Given the description of an element on the screen output the (x, y) to click on. 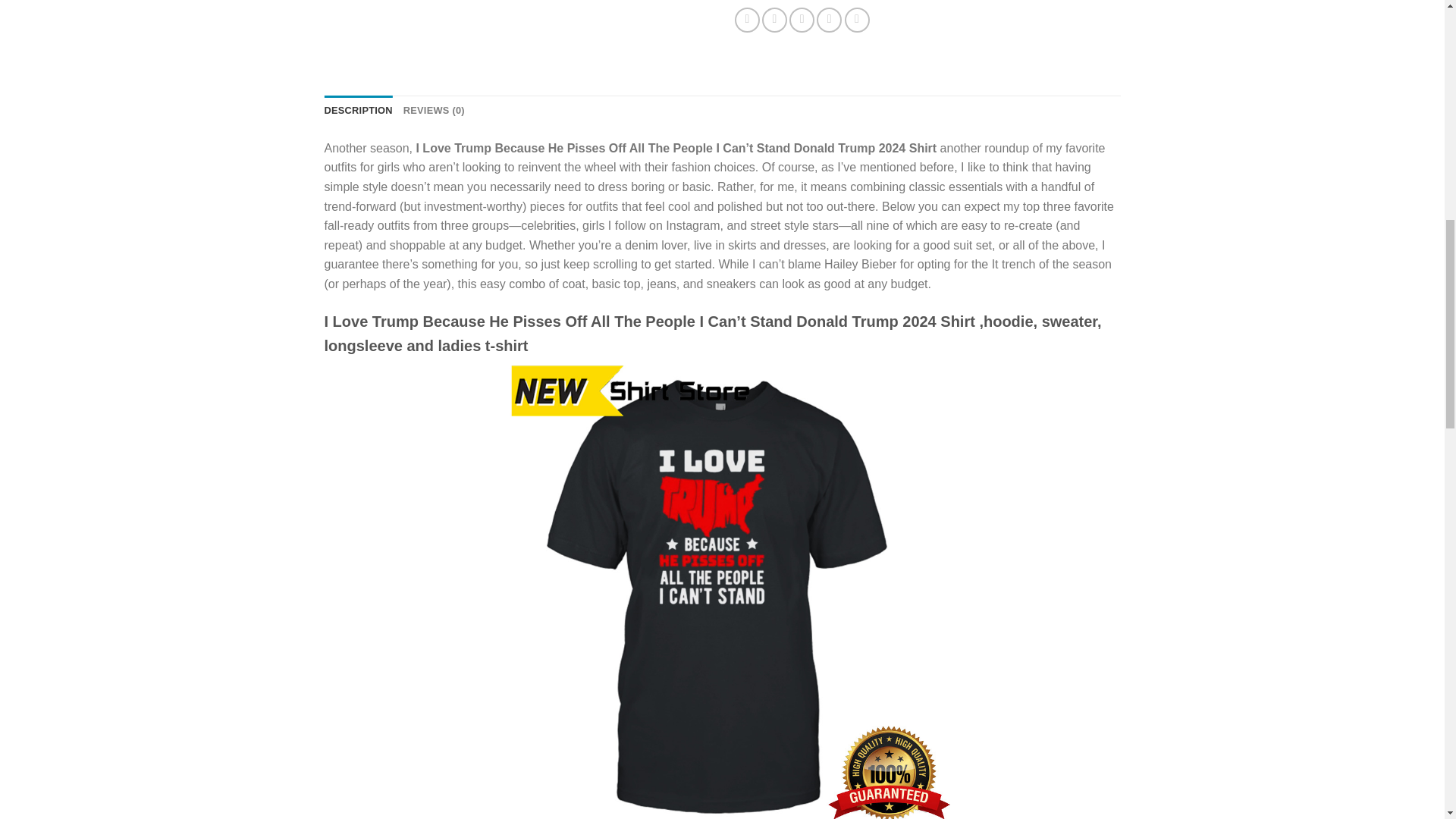
DESCRIPTION (358, 110)
